Given the description of an element on the screen output the (x, y) to click on. 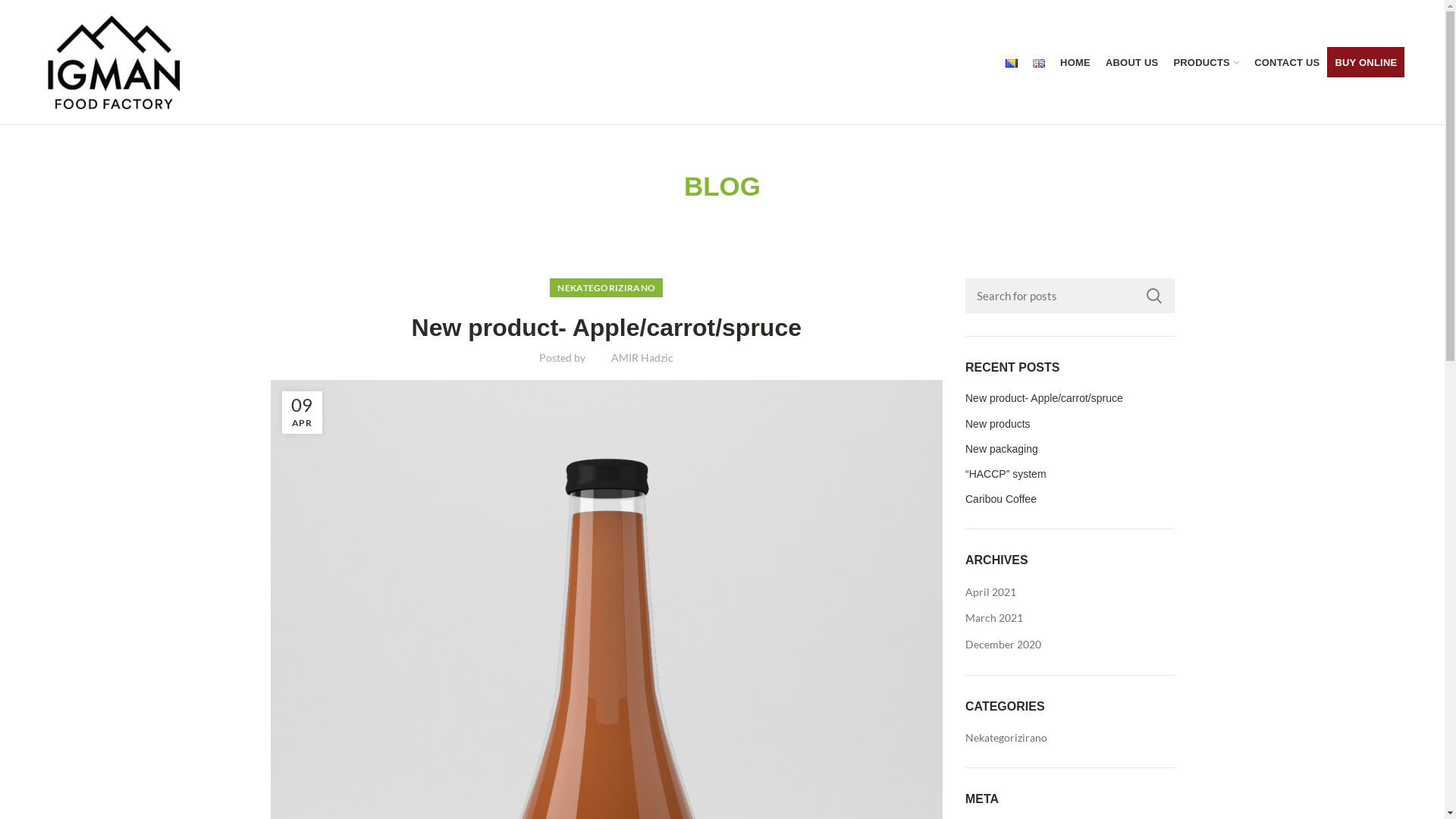
Nekategorizirano Element type: text (1006, 737)
SEARCH Element type: text (1153, 295)
BUY ONLINE Element type: text (1365, 62)
HOME Element type: text (1075, 62)
Caribou Coffee Element type: text (1069, 498)
CONTACT US Element type: text (1286, 62)
New packaging Element type: text (1069, 448)
AMIR Hadzic Element type: text (642, 357)
March 2021 Element type: text (994, 617)
NEKATEGORIZIRANO Element type: text (606, 287)
09
APR Element type: text (302, 412)
April 2021 Element type: text (991, 591)
New product- Apple/carrot/spruce Element type: text (1069, 397)
PRODUCTS Element type: text (1205, 62)
New products Element type: text (1069, 423)
December 2020 Element type: text (1003, 644)
ABOUT US Element type: text (1132, 62)
